Given the description of an element on the screen output the (x, y) to click on. 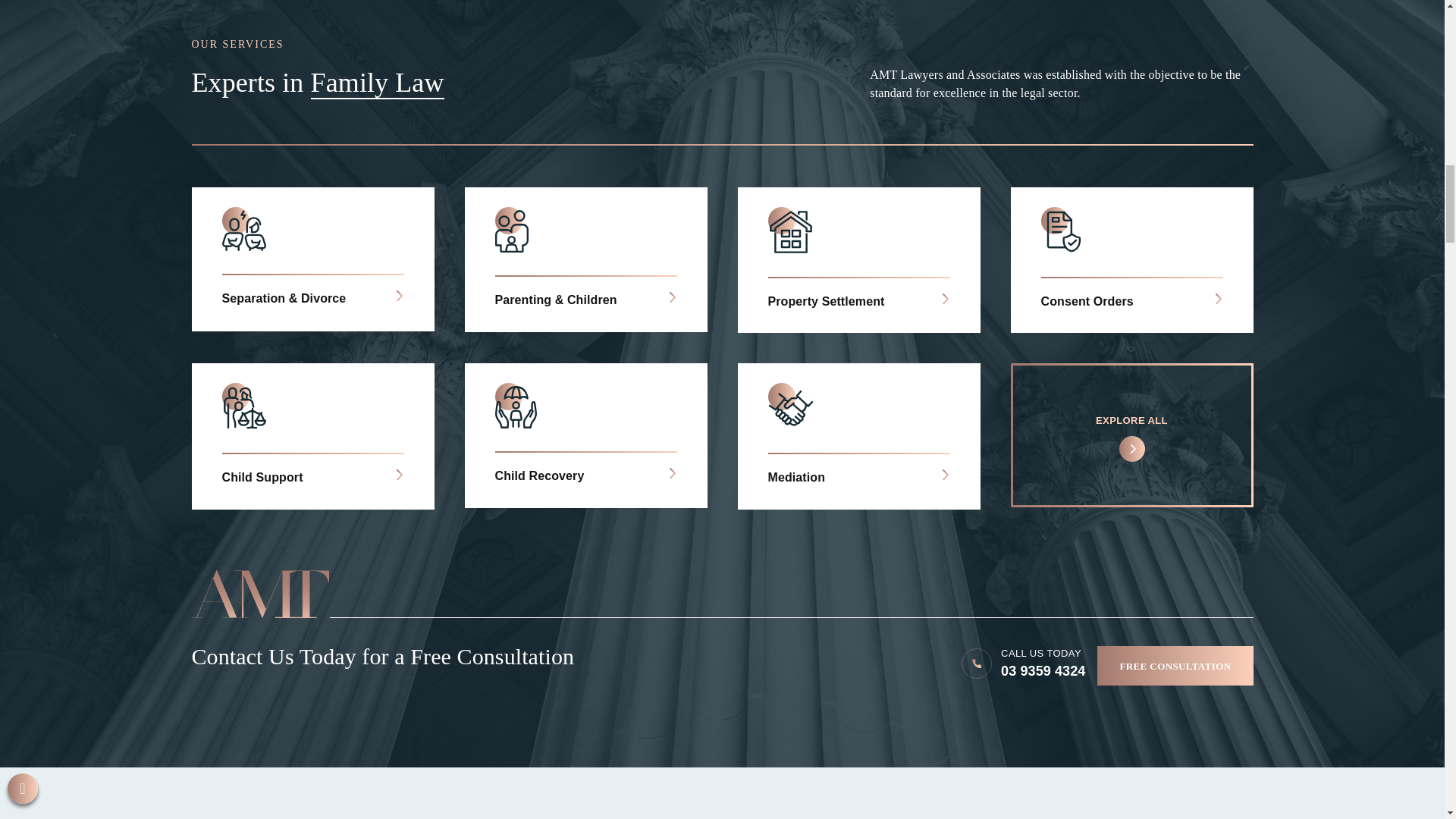
phone-call-brown (976, 663)
